Given the description of an element on the screen output the (x, y) to click on. 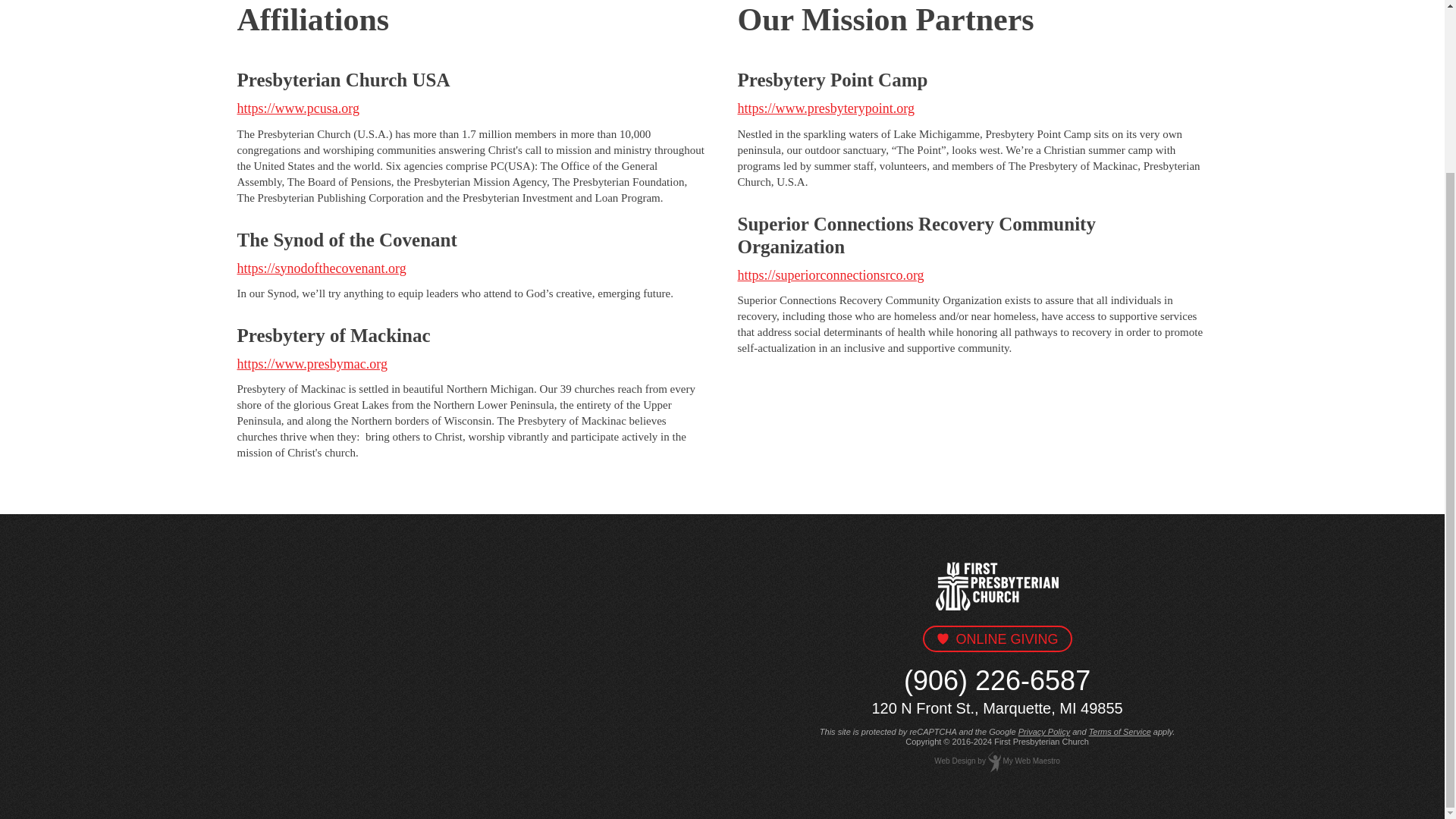
Website by My Web Maestro - mywebmaestro.com (954, 760)
Website by My Web Maestro - mywebmaestro.com (1031, 760)
Website by My Web Maestro - mywebmaestro.com (994, 760)
